Given the description of an element on the screen output the (x, y) to click on. 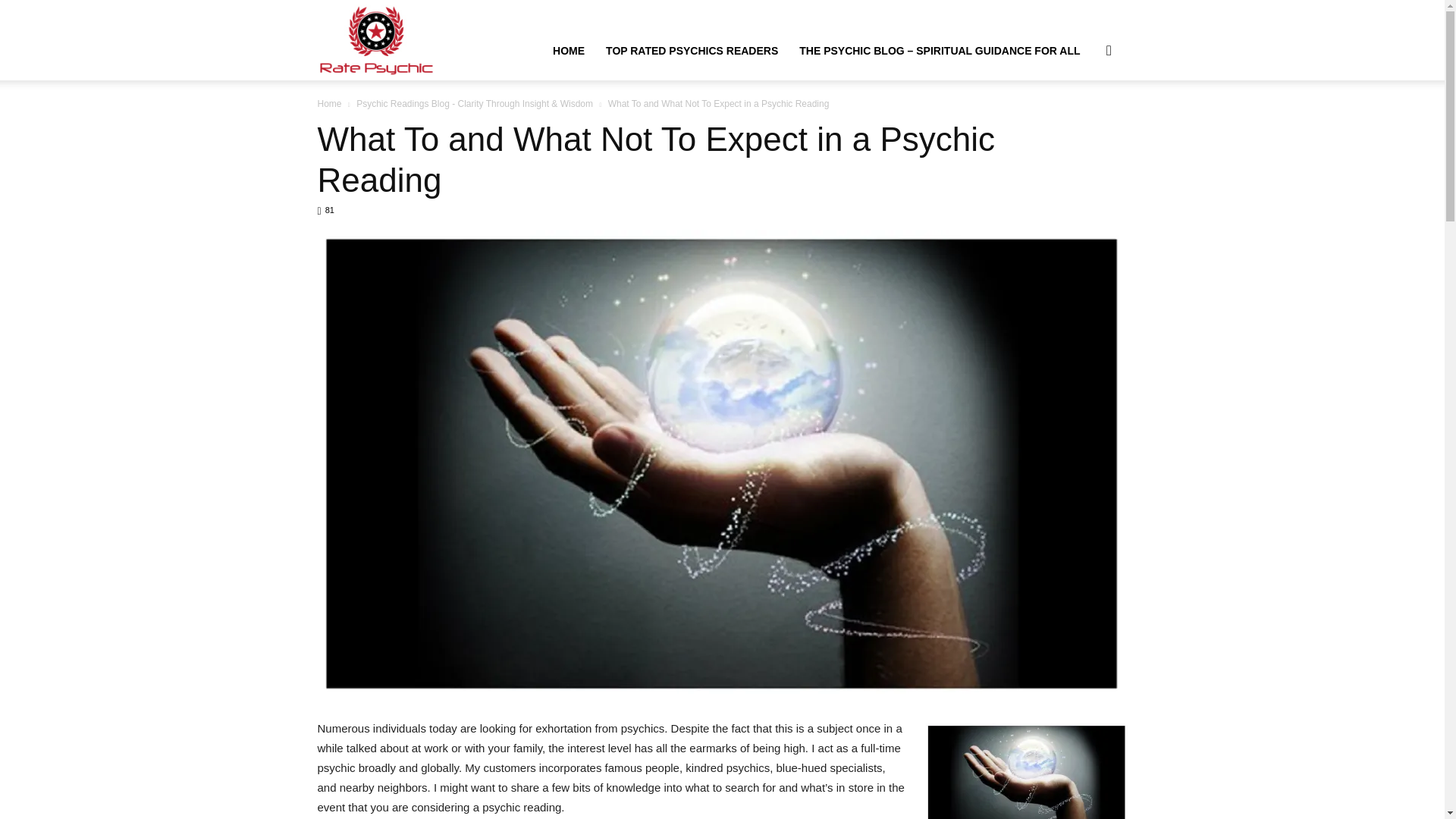
TOP RATED PSYCHICS READERS (692, 50)
Search (1085, 122)
HOME (568, 50)
Home (328, 103)
Rate Psychic (376, 39)
